Given the description of an element on the screen output the (x, y) to click on. 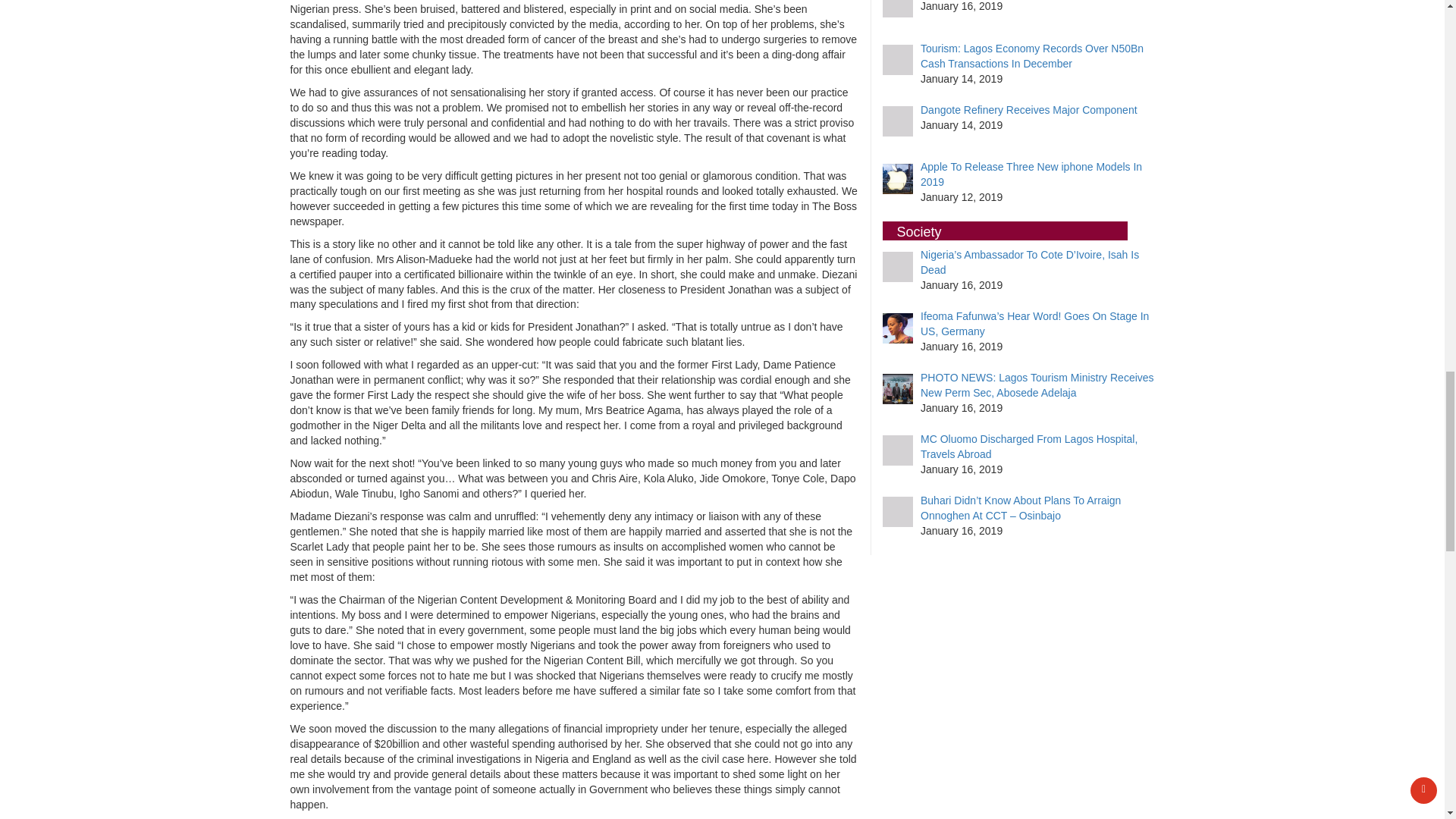
Apple To Release Three New iphone Models In 2019 (1030, 174)
Dangote Refinery Receives Major Component (1028, 110)
